Given the description of an element on the screen output the (x, y) to click on. 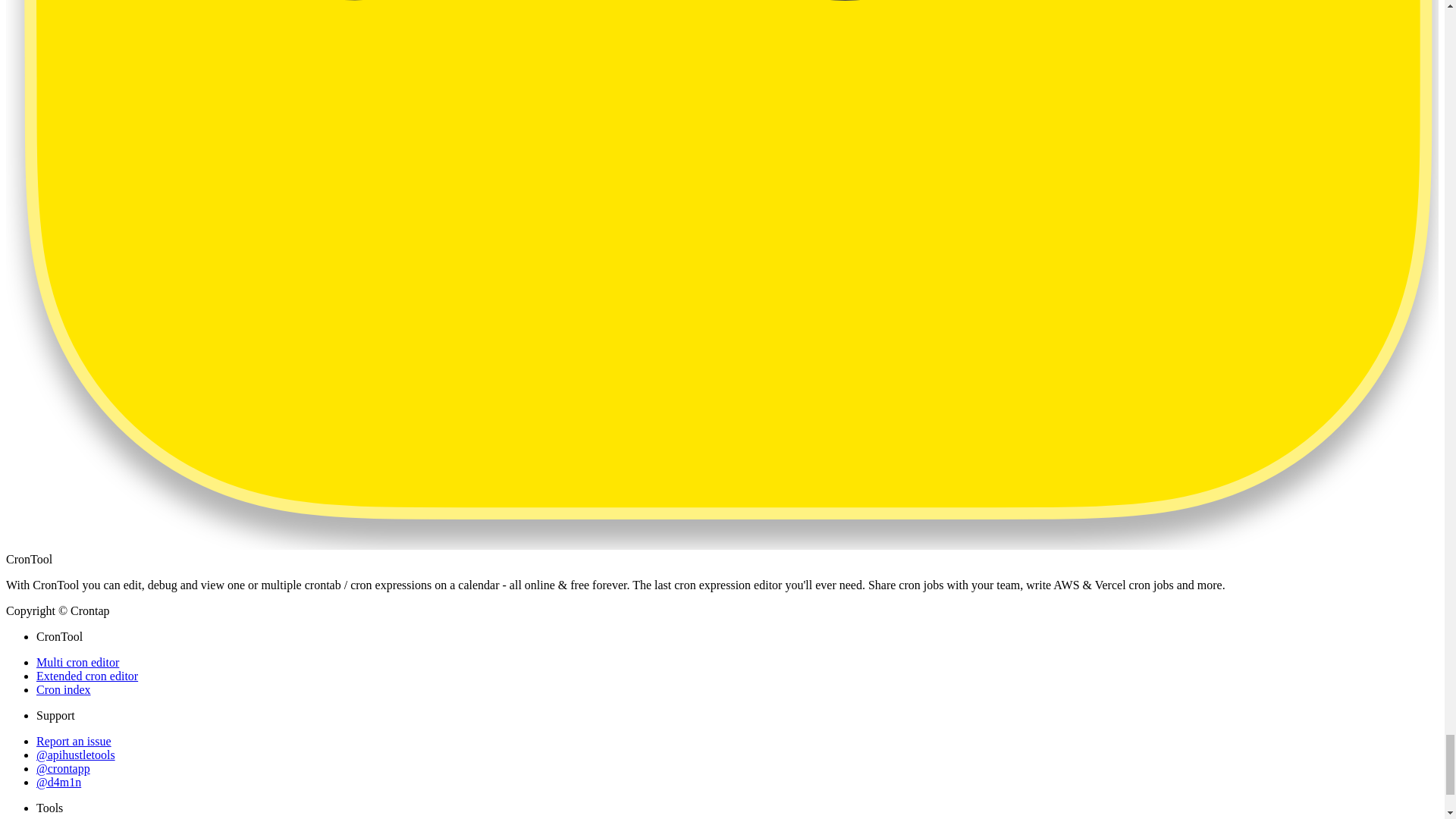
Report an issue (74, 740)
Multi cron editor (77, 662)
Extended cron editor (87, 675)
Cron index (63, 689)
